Given the description of an element on the screen output the (x, y) to click on. 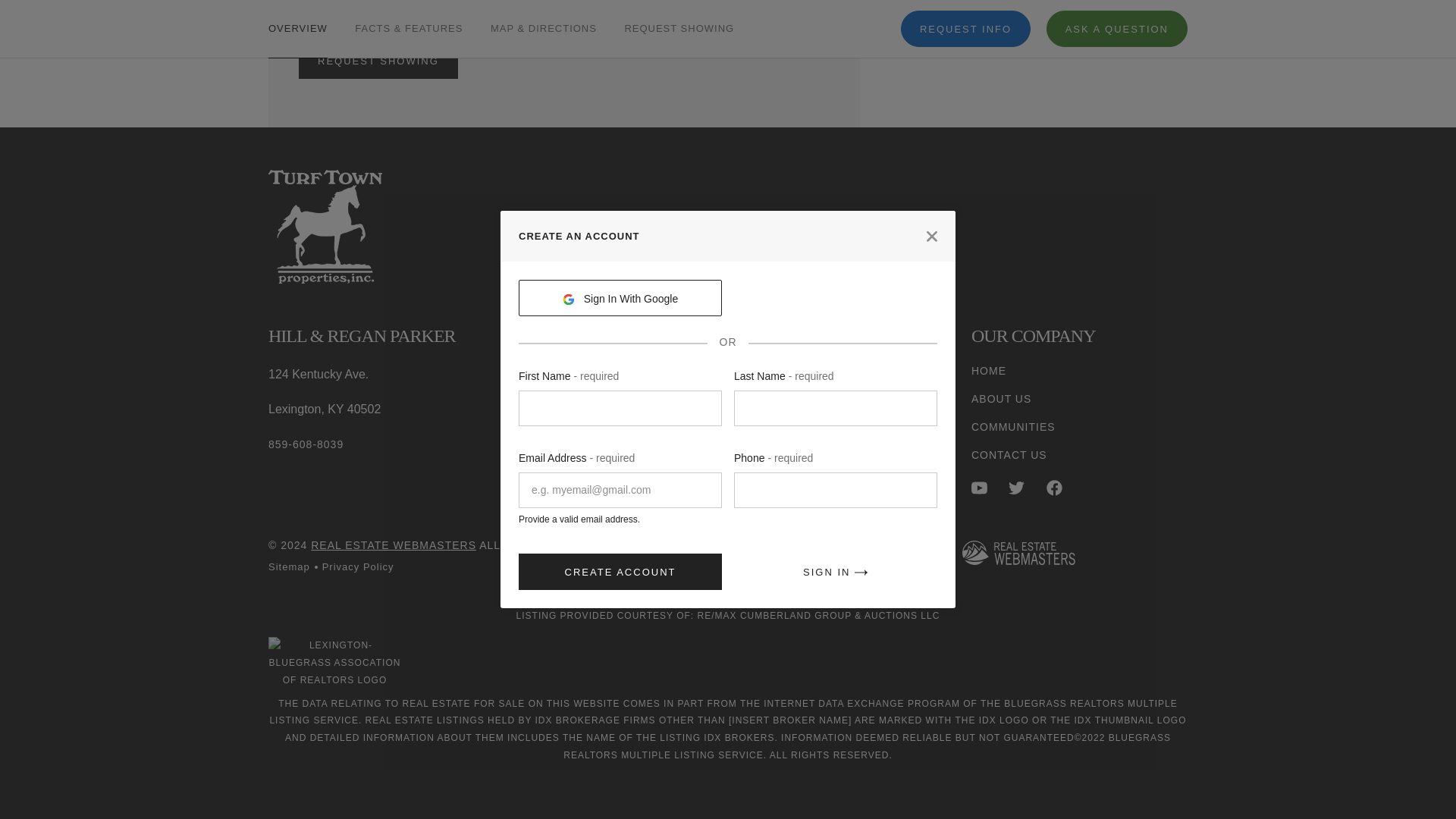
YOUTUBE (979, 487)
TWITTER (1017, 487)
FACEBOOK (1054, 487)
